Given the description of an element on the screen output the (x, y) to click on. 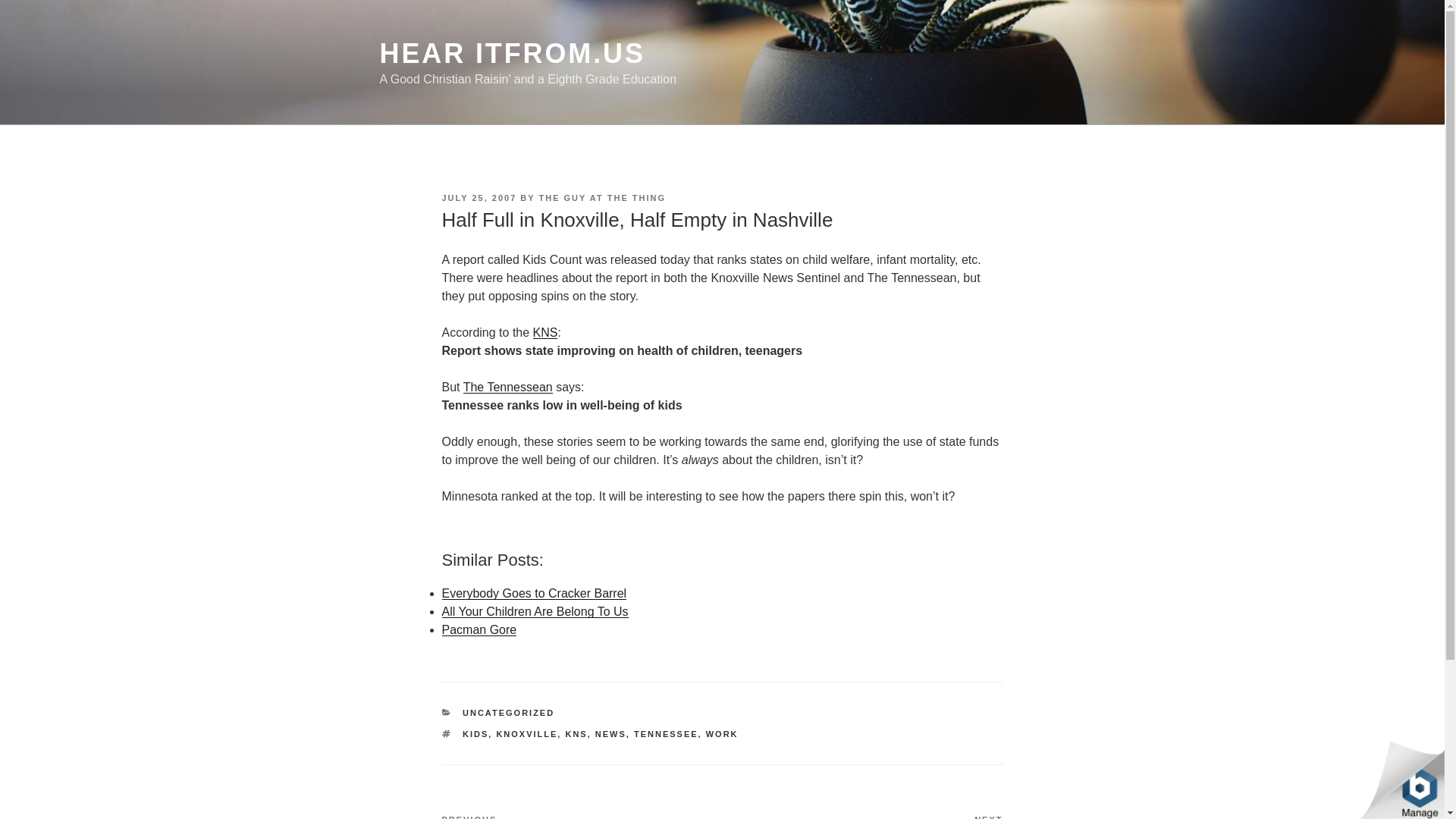
July 5, 2008 (533, 593)
February 25, 2008 (534, 611)
HEAR ITFROM.US (511, 52)
Pacman Gore (478, 629)
KNS (862, 816)
Everybody Goes to Cracker Barrel (575, 733)
NEWS (533, 593)
THE GUY AT THE THING (610, 733)
JULY 25, 2007 (601, 197)
